Given the description of an element on the screen output the (x, y) to click on. 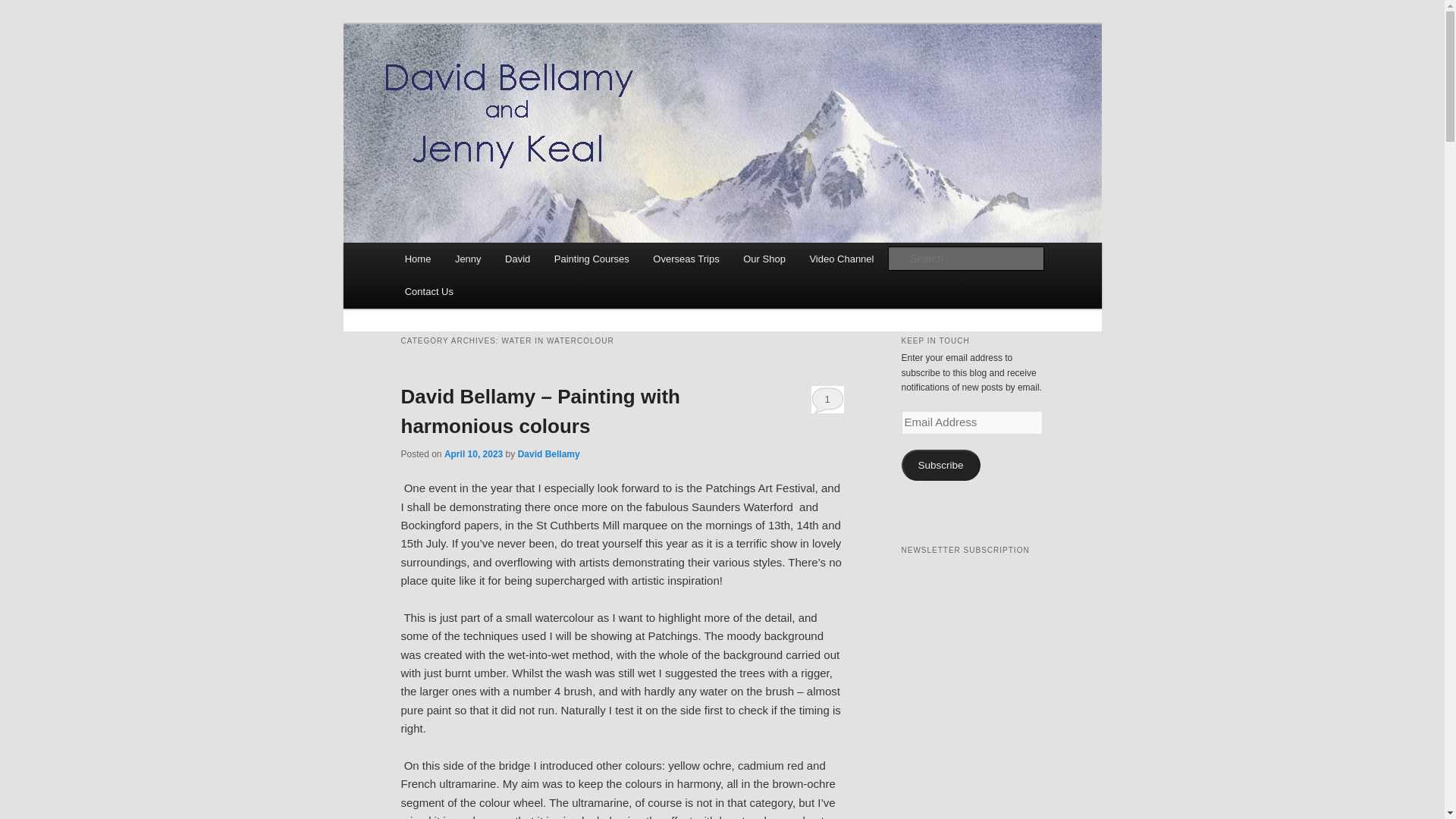
Bellamy's Bivouac (499, 78)
David (517, 258)
View all posts by David Bellamy (548, 453)
Painting Courses (591, 258)
Search (24, 8)
11:27 am (473, 453)
Jenny (467, 258)
Home (417, 258)
Overseas Trips (687, 258)
